Given the description of an element on the screen output the (x, y) to click on. 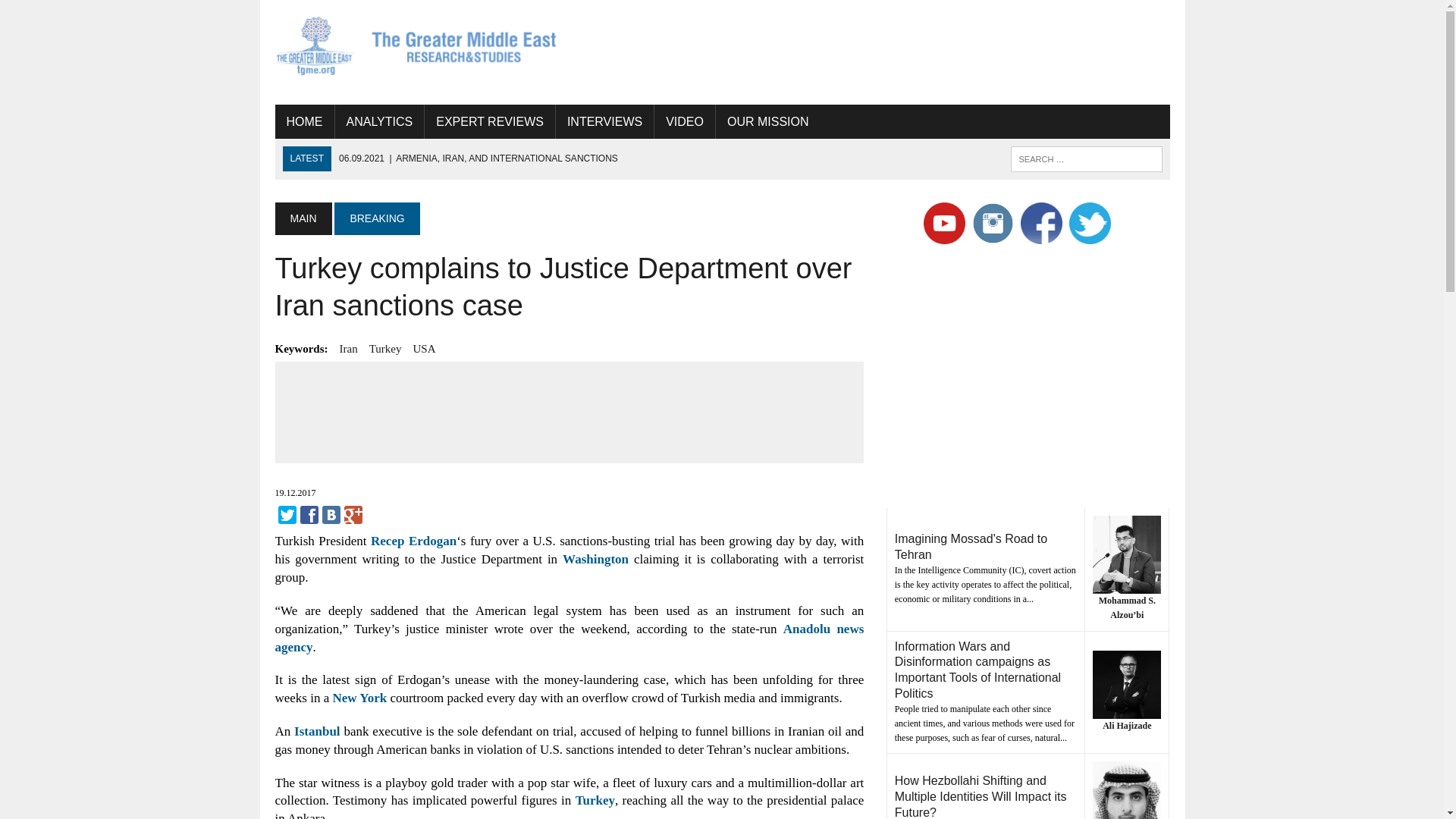
Armenia, Iran, and International Sanctions (478, 158)
The Greater Middle East (416, 45)
Iran (348, 348)
HOME (304, 121)
Turkey (385, 348)
VIDEO (683, 121)
Washington (595, 559)
Advertisement (893, 49)
BREAKING (376, 218)
Istanbul (316, 730)
Recep Erdogan (414, 540)
Advertisement (569, 409)
New York (360, 698)
Search (75, 14)
EXPERT REVIEWS (489, 121)
